Given the description of an element on the screen output the (x, y) to click on. 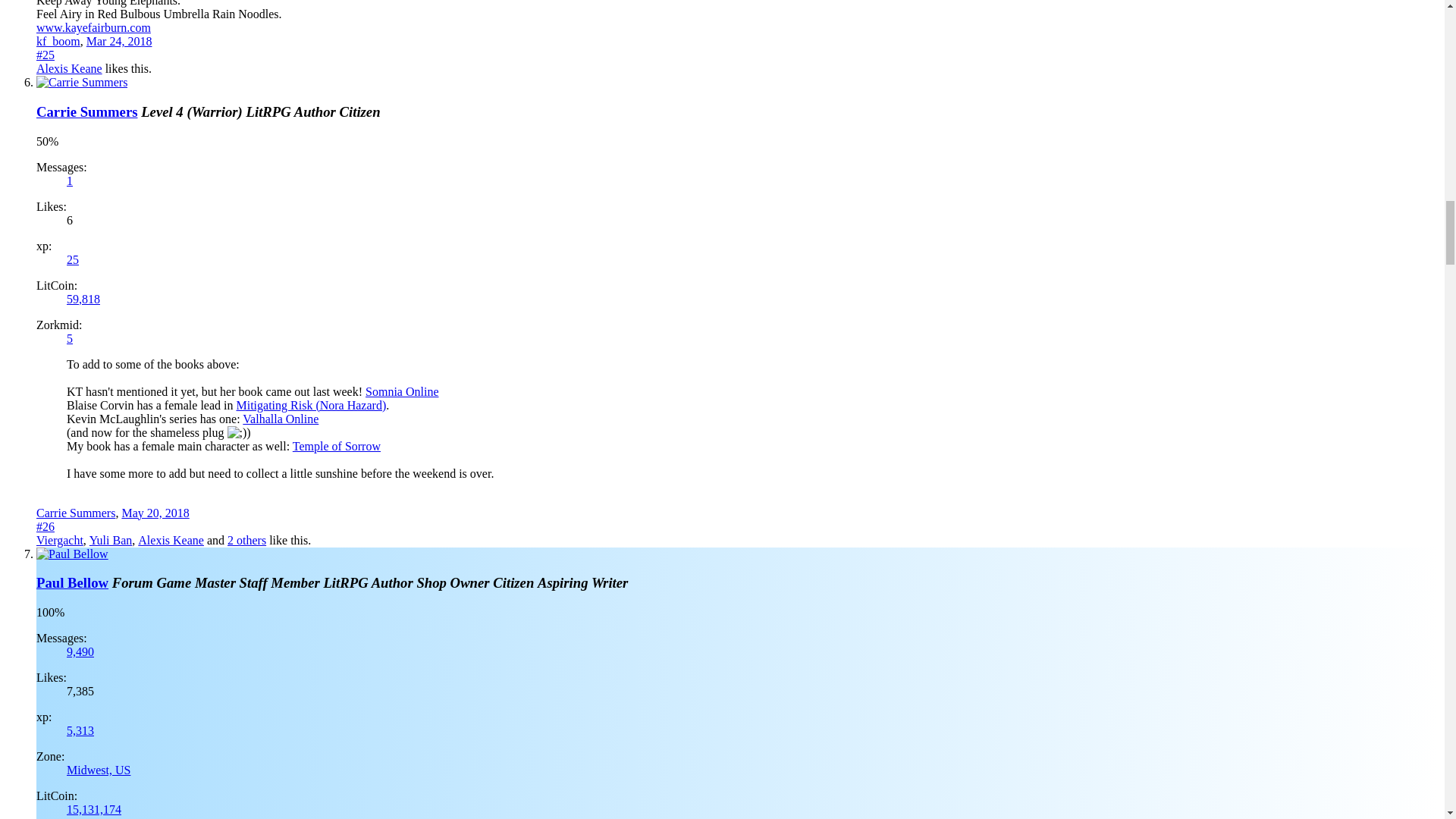
Permalink (118, 41)
Permalink (45, 54)
Permalink (154, 512)
